Given the description of an element on the screen output the (x, y) to click on. 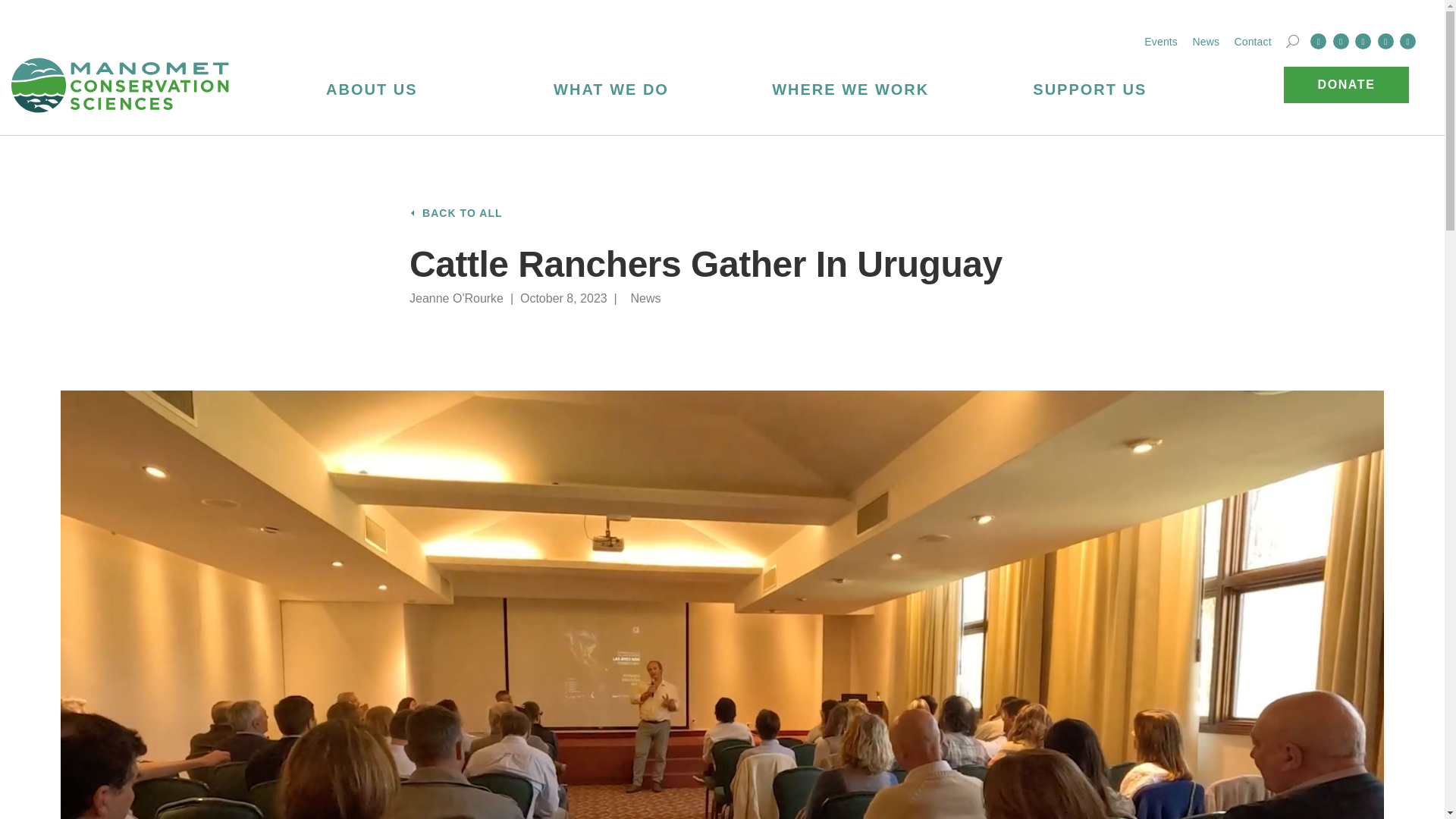
YouTube (1407, 41)
Twitter (1341, 41)
WHERE WE WORK (850, 87)
Linkedin (1363, 41)
Contact (1252, 41)
Events (1160, 41)
ABOUT US (371, 87)
Instagram (1385, 41)
News (1206, 41)
Manomet (120, 85)
